Given the description of an element on the screen output the (x, y) to click on. 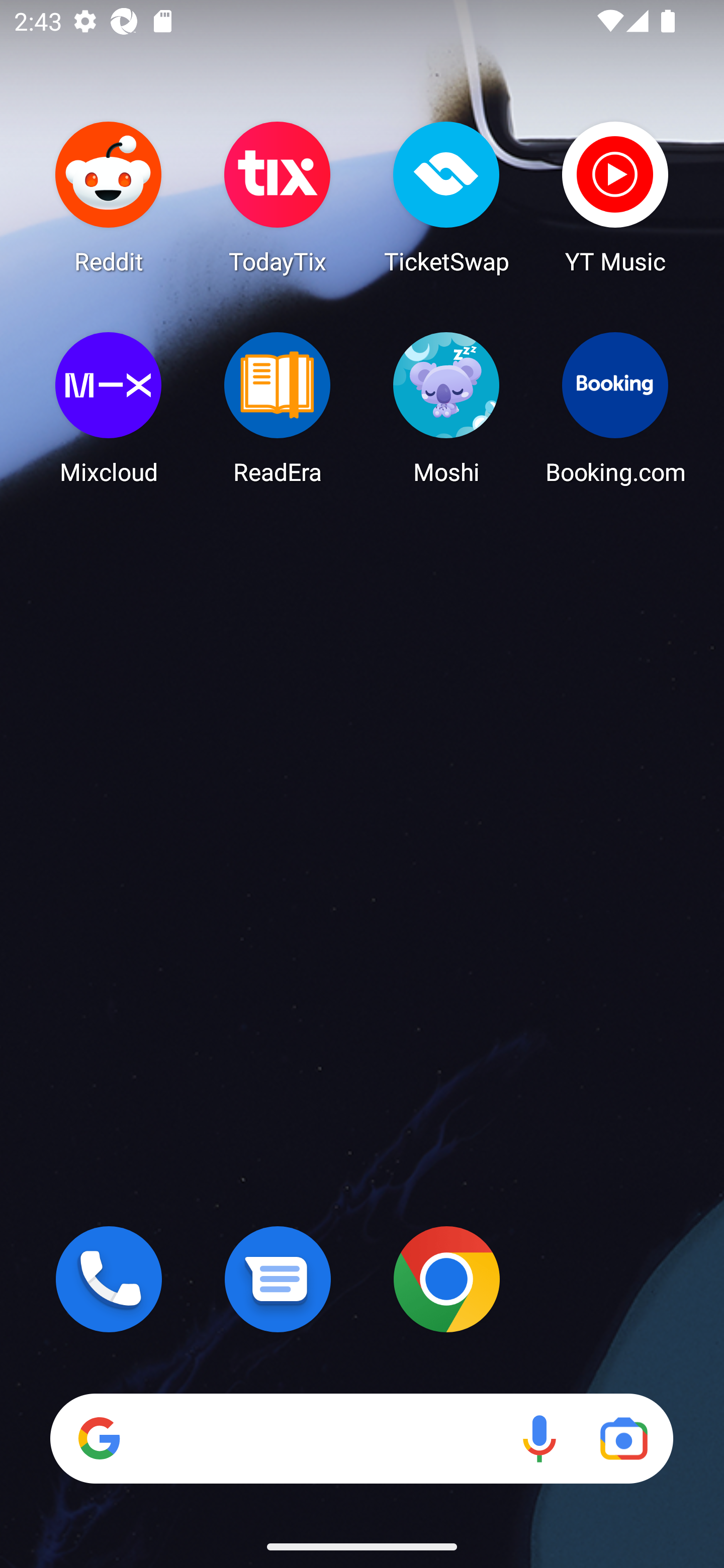
Reddit (108, 196)
TodayTix (277, 196)
TicketSwap (445, 196)
YT Music (615, 196)
Mixcloud (108, 407)
ReadEra (277, 407)
Moshi (445, 407)
Booking.com (615, 407)
Phone (108, 1279)
Messages (277, 1279)
Chrome (446, 1279)
Search Voice search Google Lens (361, 1438)
Voice search (539, 1438)
Google Lens (623, 1438)
